Given the description of an element on the screen output the (x, y) to click on. 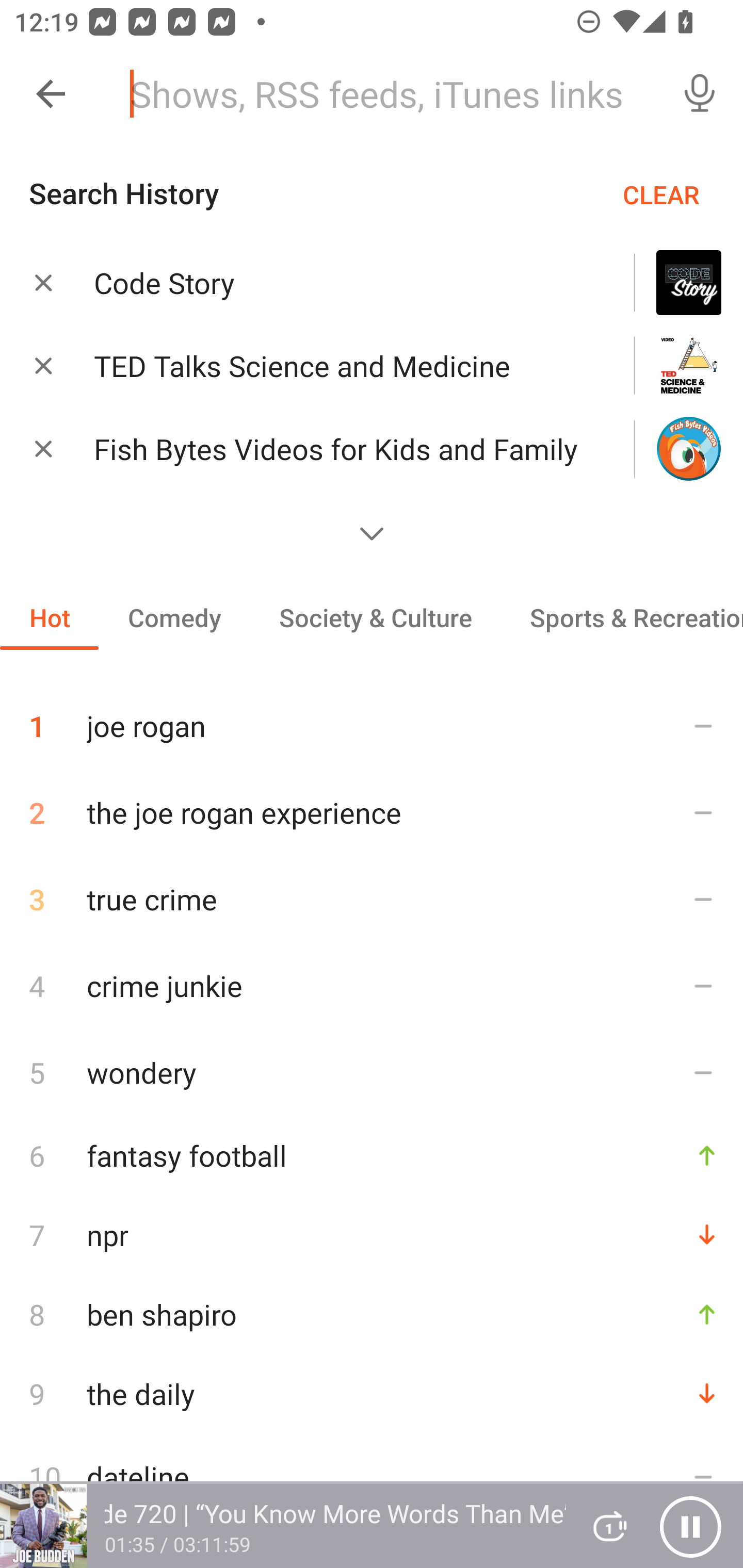
Collapse (50, 93)
Voice Search (699, 93)
Shows, RSS feeds, iTunes links (385, 94)
CLEAR (660, 194)
Code Story (338, 282)
 Clear (43, 282)
TED Talks Science and Medicine (338, 365)
 Clear (43, 365)
Fish Bytes Videos for Kids and Family (338, 448)
 Clear (43, 448)
 (371, 533)
Hot (49, 616)
Comedy (173, 616)
Society & Culture (374, 616)
Sports & Recreation (621, 616)
1 joe rogan (371, 717)
2 the joe rogan experience (371, 812)
3 true crime (371, 899)
4 crime junkie (371, 985)
5 wondery (371, 1072)
6 fantasy football (371, 1155)
7 npr (371, 1234)
8 ben shapiro (371, 1313)
9 the daily (371, 1393)
Pause (690, 1526)
